Given the description of an element on the screen output the (x, y) to click on. 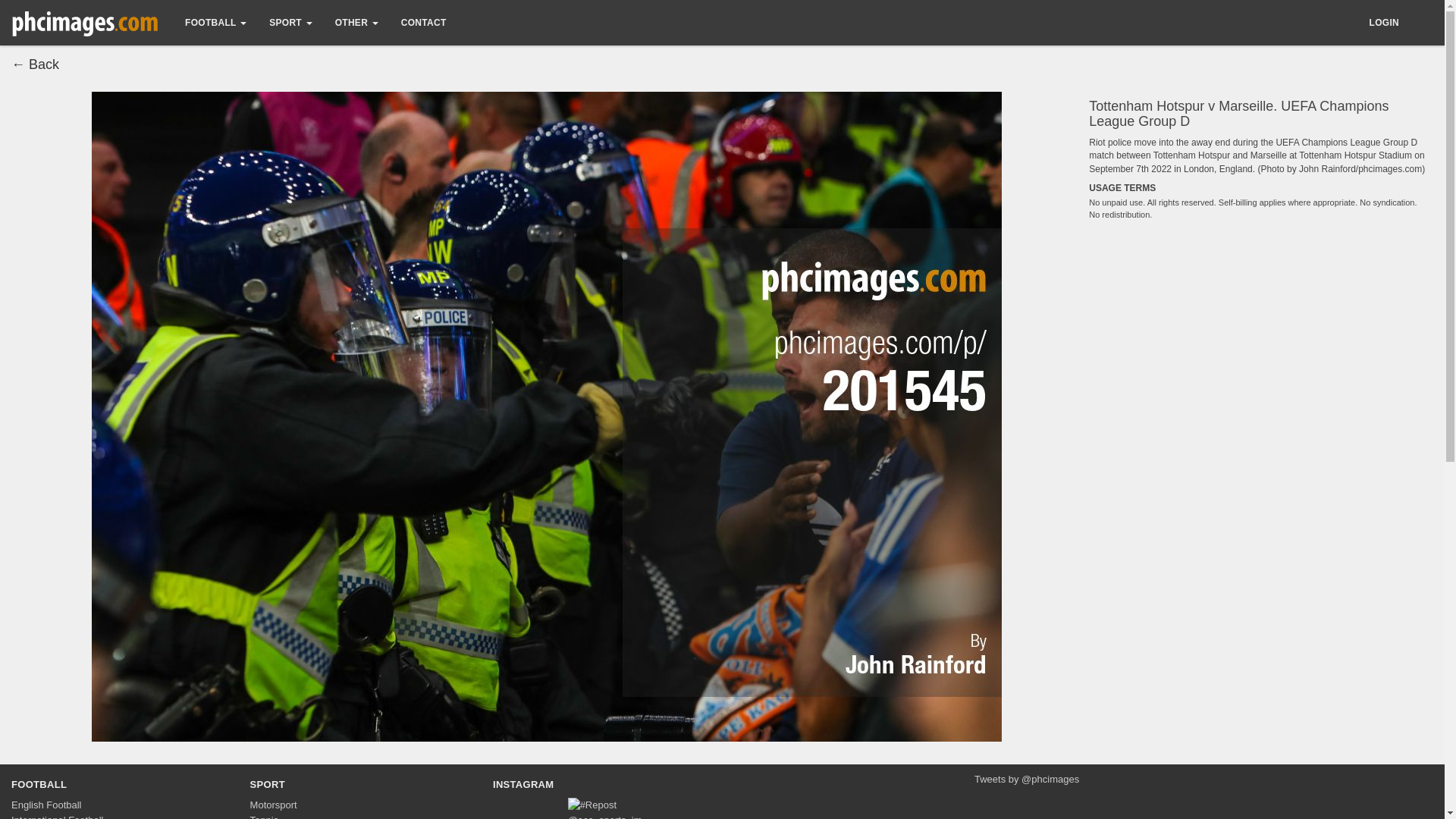
OTHER (356, 22)
LOGIN (1383, 22)
CONTACT (424, 22)
SPORT (290, 22)
SPORT (267, 784)
International Football (57, 816)
Tennis (264, 816)
FOOTBALL (215, 22)
English Football (46, 804)
FOOTBALL (38, 784)
Motorsport (273, 804)
